Given the description of an element on the screen output the (x, y) to click on. 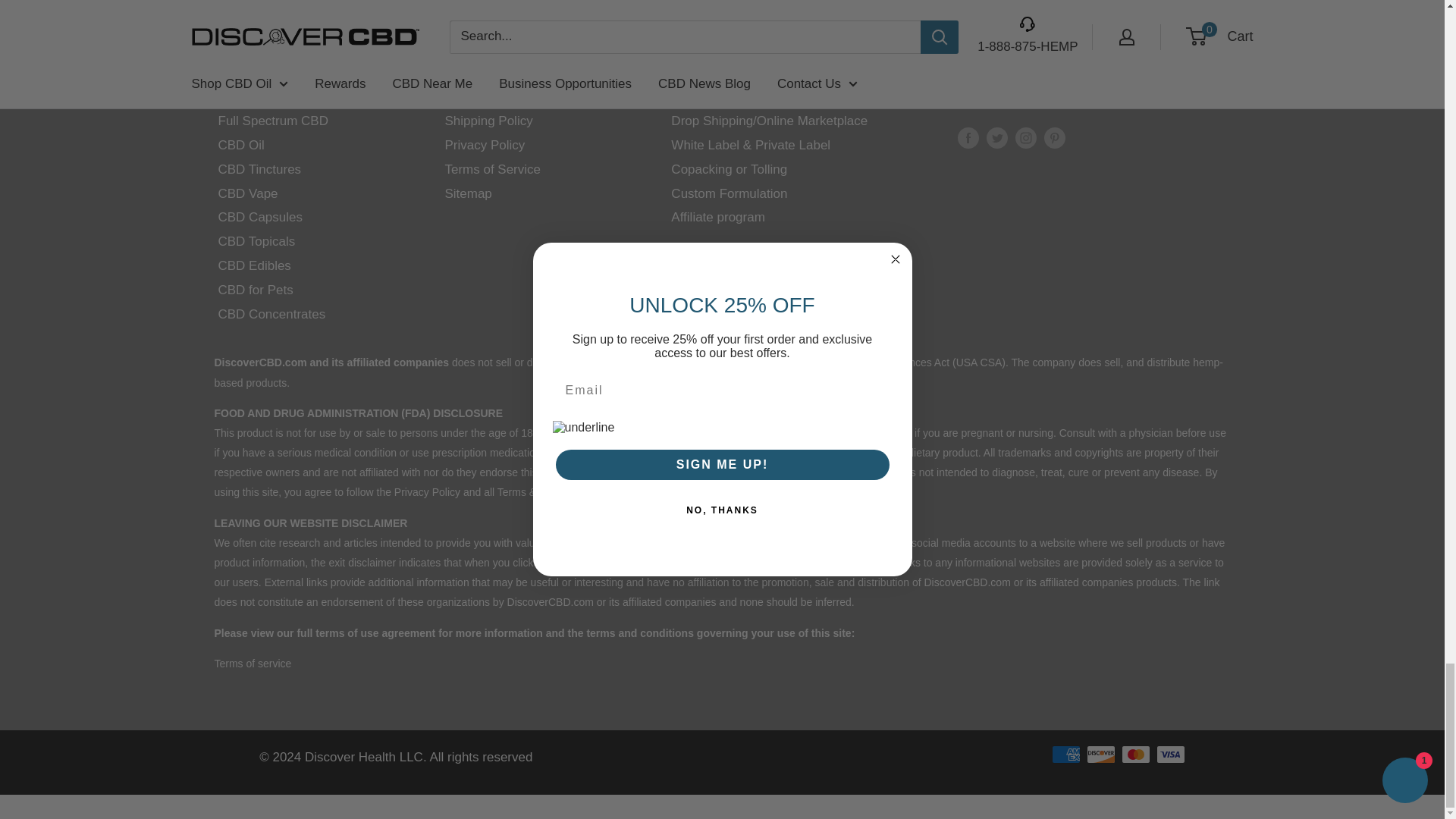
Terms of service (252, 663)
